Given the description of an element on the screen output the (x, y) to click on. 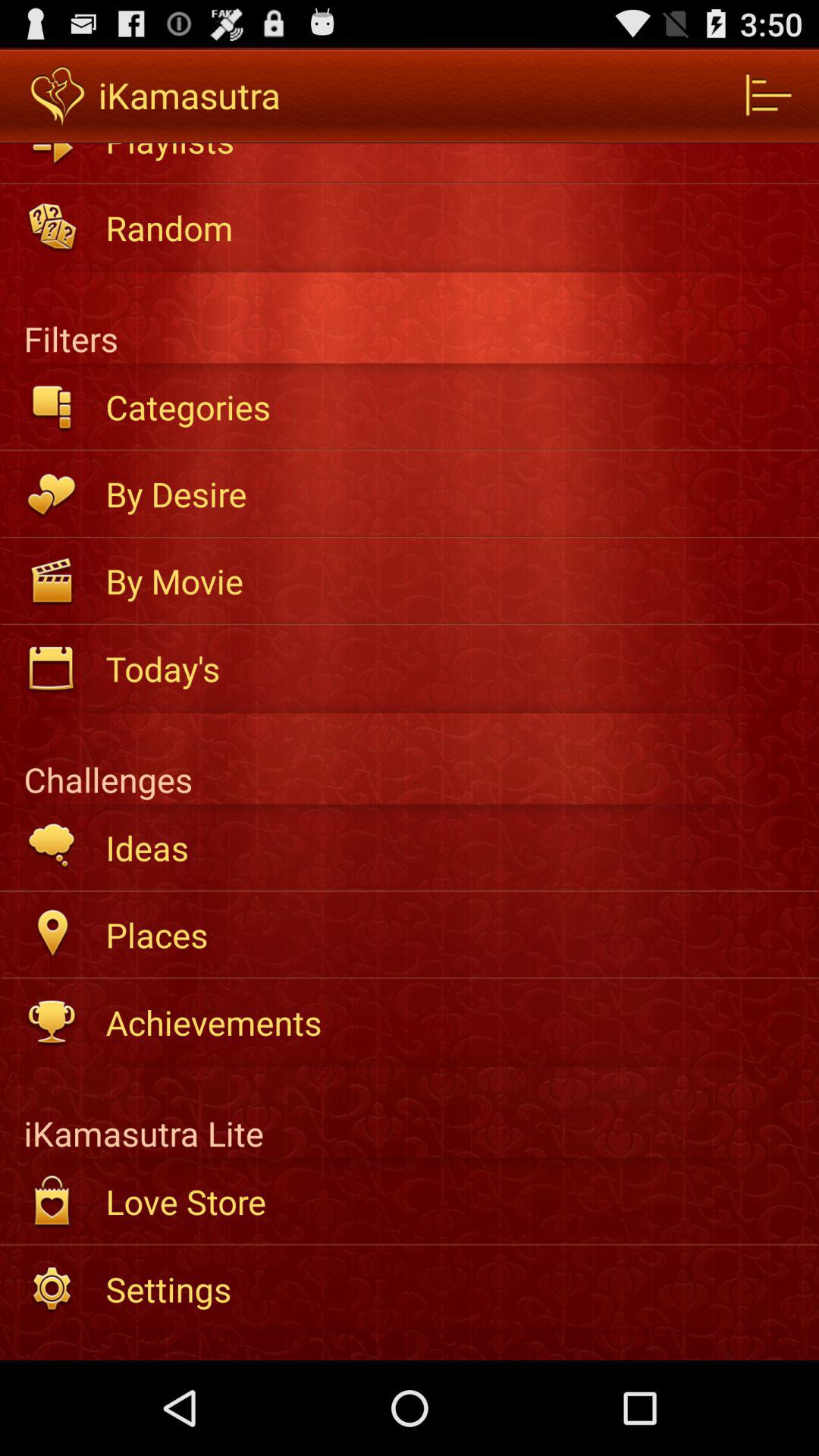
press item above the random app (452, 153)
